Given the description of an element on the screen output the (x, y) to click on. 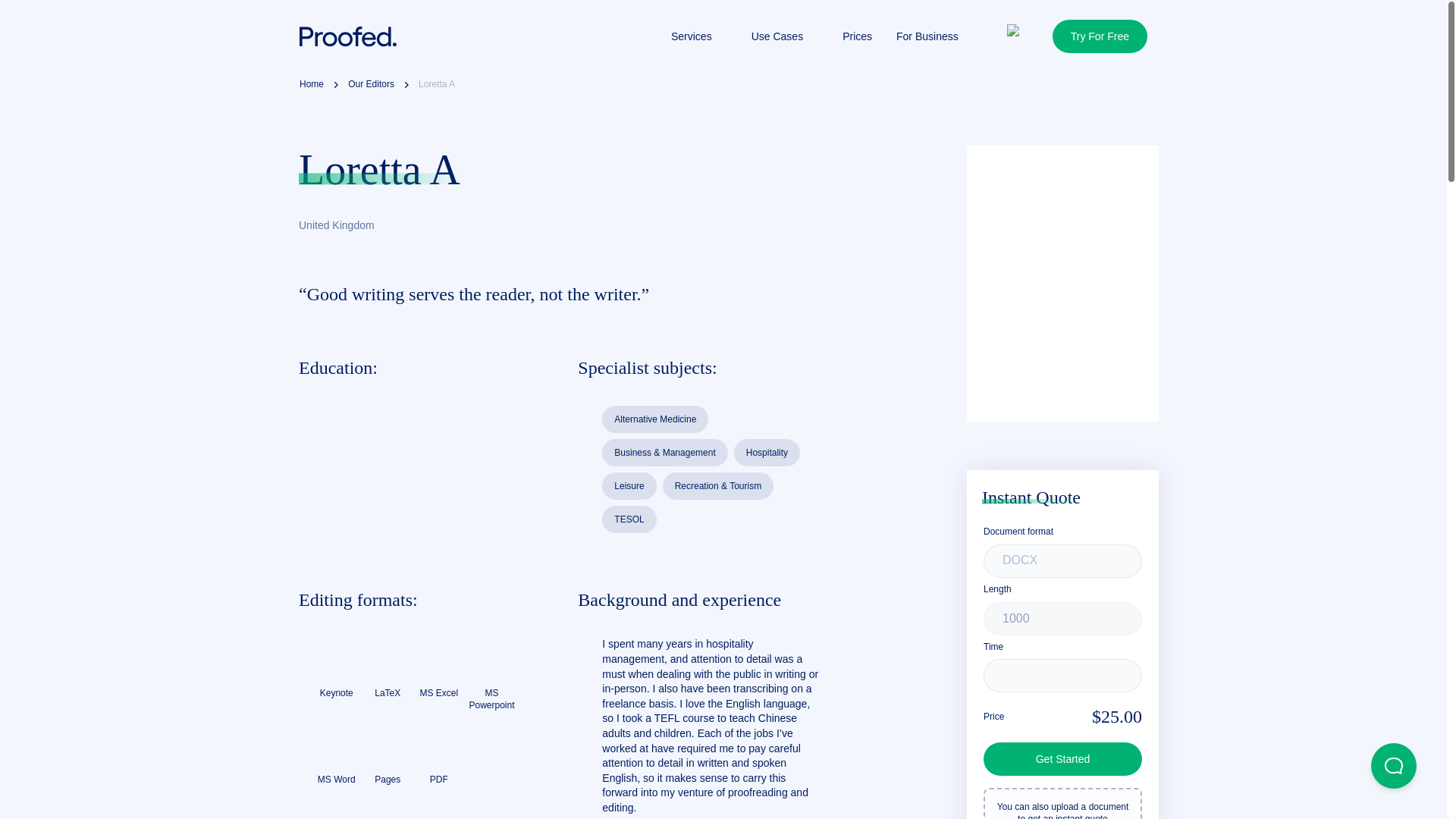
MS Excel (438, 668)
MS Word (336, 754)
For Business (927, 36)
LaTeX (387, 668)
Keynote (336, 668)
MS Powerpoint (491, 674)
1000 (1062, 618)
Try For Free (1099, 36)
Get Started (1062, 758)
Our Editors (370, 84)
PDF (438, 754)
Home (311, 84)
Pages (387, 754)
Prices (857, 36)
Proofed Logo (347, 35)
